Given the description of an element on the screen output the (x, y) to click on. 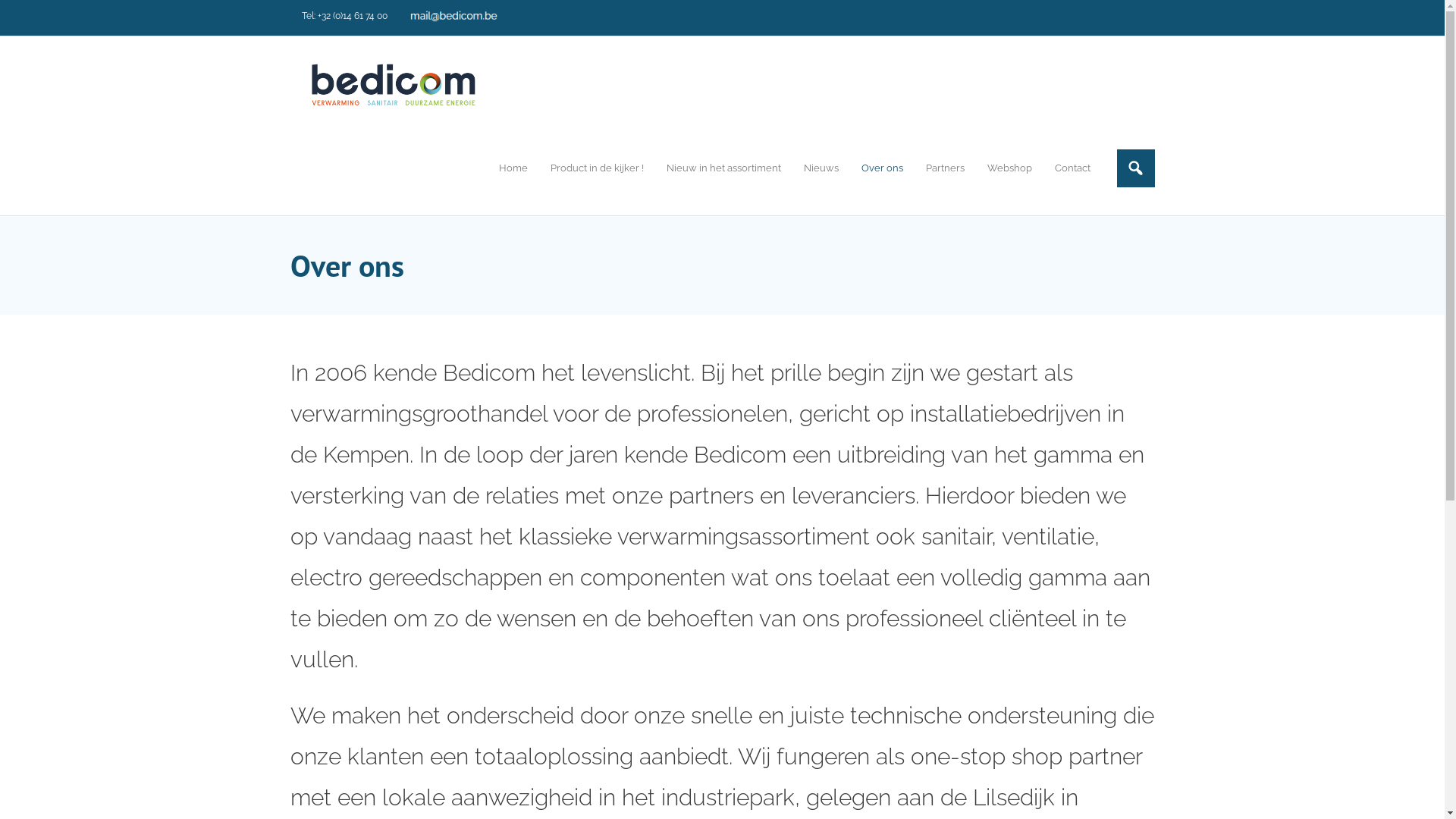
Nieuw in het assortiment Element type: text (723, 167)
Contact Element type: text (1072, 167)
Nieuws Element type: text (820, 167)
Tel: +32 (0)14 61 74 00 Element type: text (343, 16)
Over ons Element type: text (881, 167)
Partners Element type: text (944, 167)
Product in de kijker ! Element type: text (596, 167)
Home Element type: text (512, 167)
Webshop Element type: text (1008, 167)
Search Element type: text (27, 14)
